Given the description of an element on the screen output the (x, y) to click on. 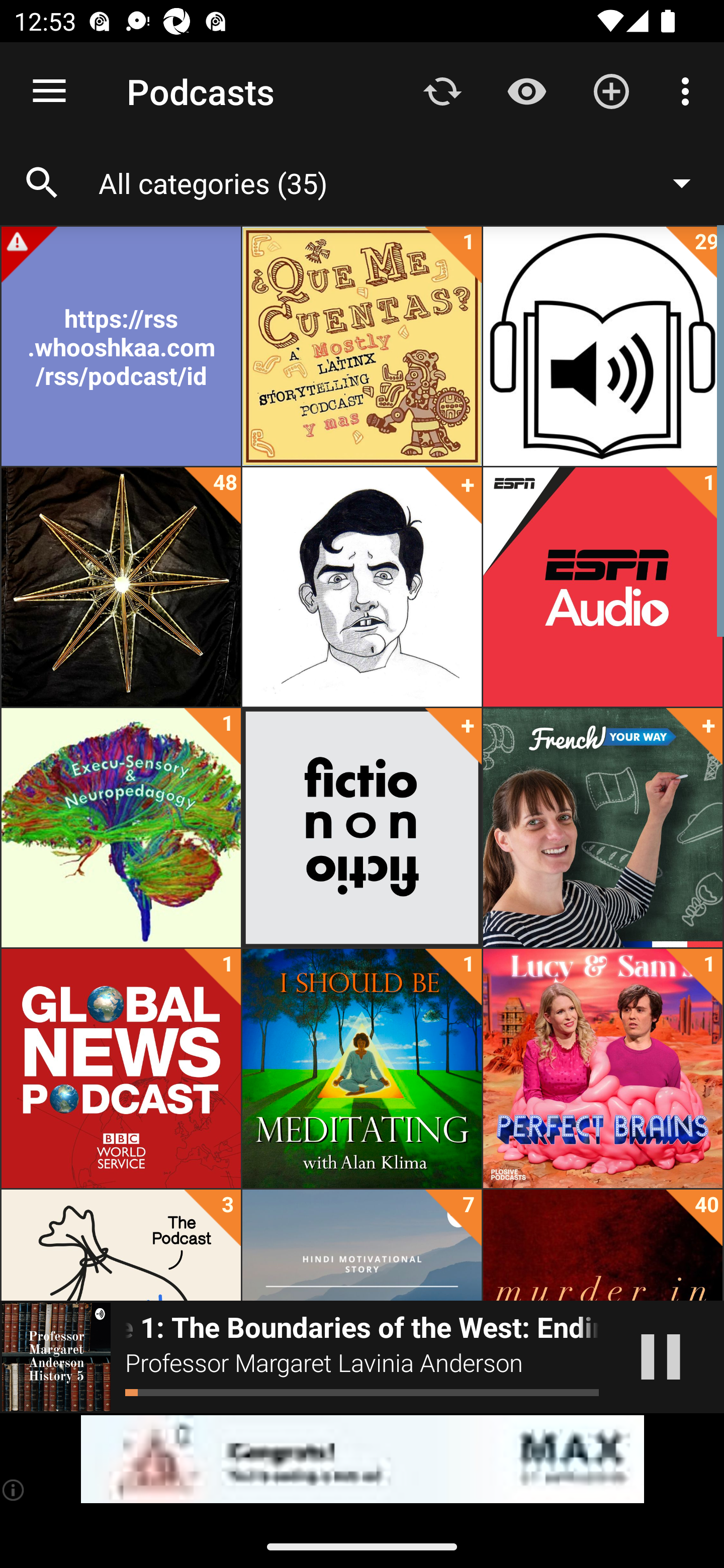
Open navigation sidebar (49, 91)
Update (442, 90)
Show / Hide played content (526, 90)
Add new Podcast (611, 90)
More options (688, 90)
Search (42, 183)
All categories (35) (404, 182)
https://rss.whooshkaa.com/rss/podcast/id/5884 (121, 346)
¿Qué Me Cuentas?: Latinx Storytelling 1 (361, 346)
Audiobooks 29 (602, 346)
Audiobooks 48 (121, 587)
Cooking Issues with Dave Arnold + (361, 587)
ESPN Audio 1 (602, 587)
fiction/non/fiction + (361, 827)
Global News Podcast 1 (121, 1068)
Lucy & Sam's Perfect Brains 1 (602, 1068)
Play / Pause (660, 1356)
app-monetization (362, 1459)
(i) (14, 1489)
